Given the description of an element on the screen output the (x, y) to click on. 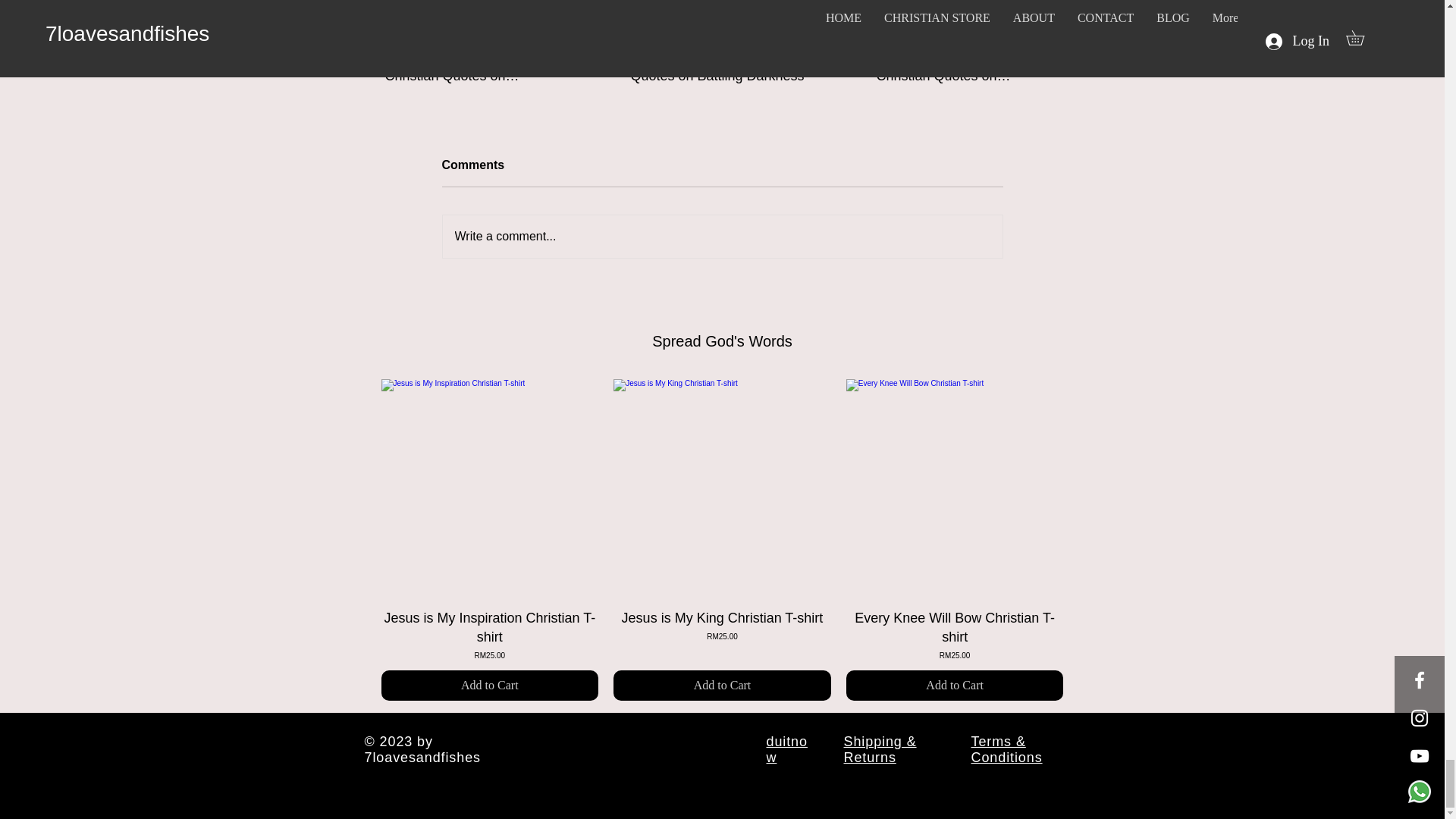
Add to Cart (721, 634)
Spiritual Warfare: Christian Quotes on Battling Darkness (489, 685)
Finding Freedom in Christ: Christian Quotes on Liberation (489, 634)
Add to Cart (721, 68)
Add to Cart (476, 68)
Write a comment... (954, 685)
